Given the description of an element on the screen output the (x, y) to click on. 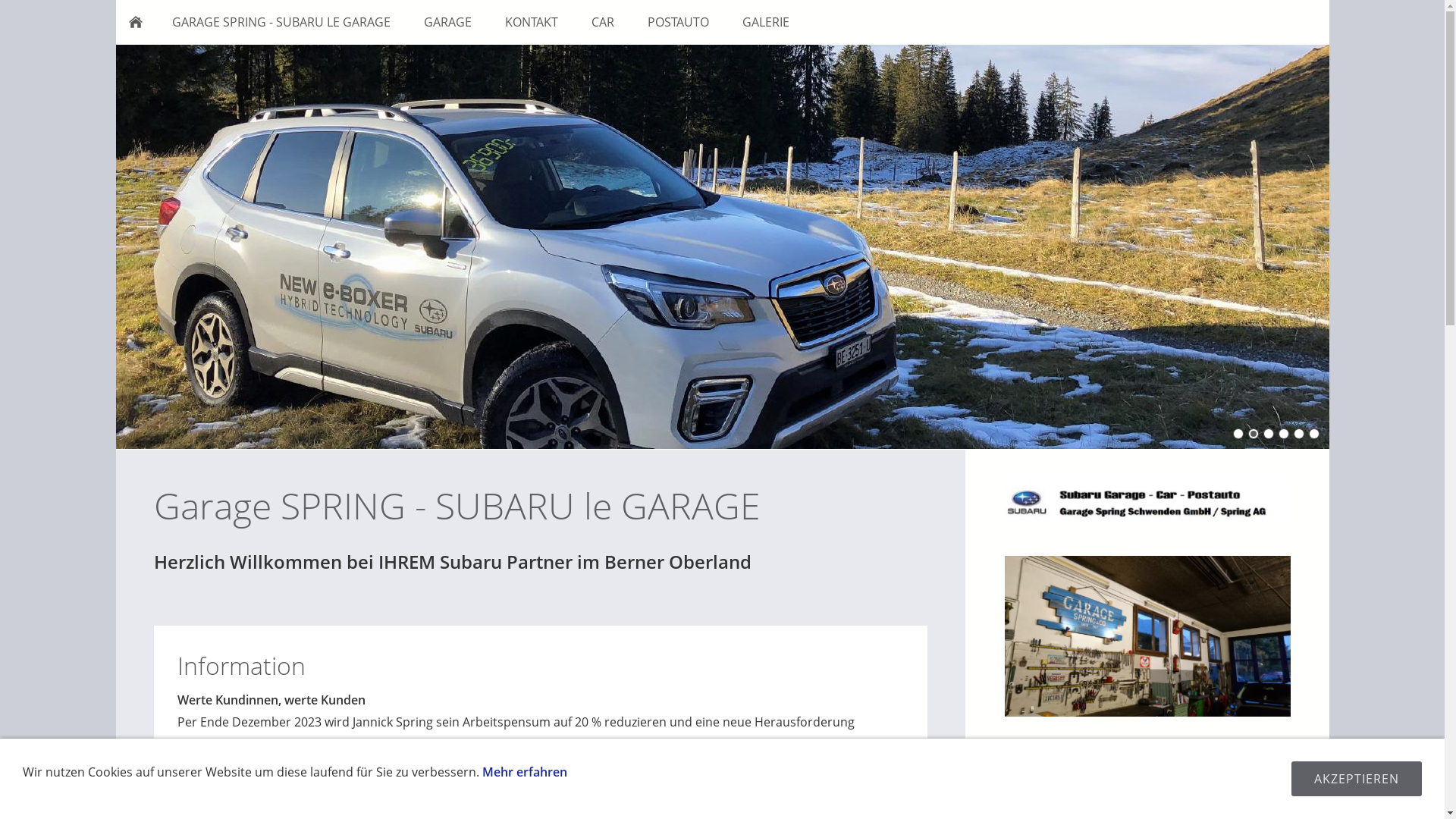
POSTAUTO Element type: text (677, 21)
Mehr erfahren Element type: text (524, 771)
GARAGE SPRING - SUBARU LE GARAGE Element type: text (280, 21)
AKZEPTIEREN Element type: text (1356, 778)
CAR Element type: text (602, 21)
GARAGE Element type: text (446, 21)
GALERIE Element type: text (764, 21)
KONTAKT Element type: text (531, 21)
